Given the description of an element on the screen output the (x, y) to click on. 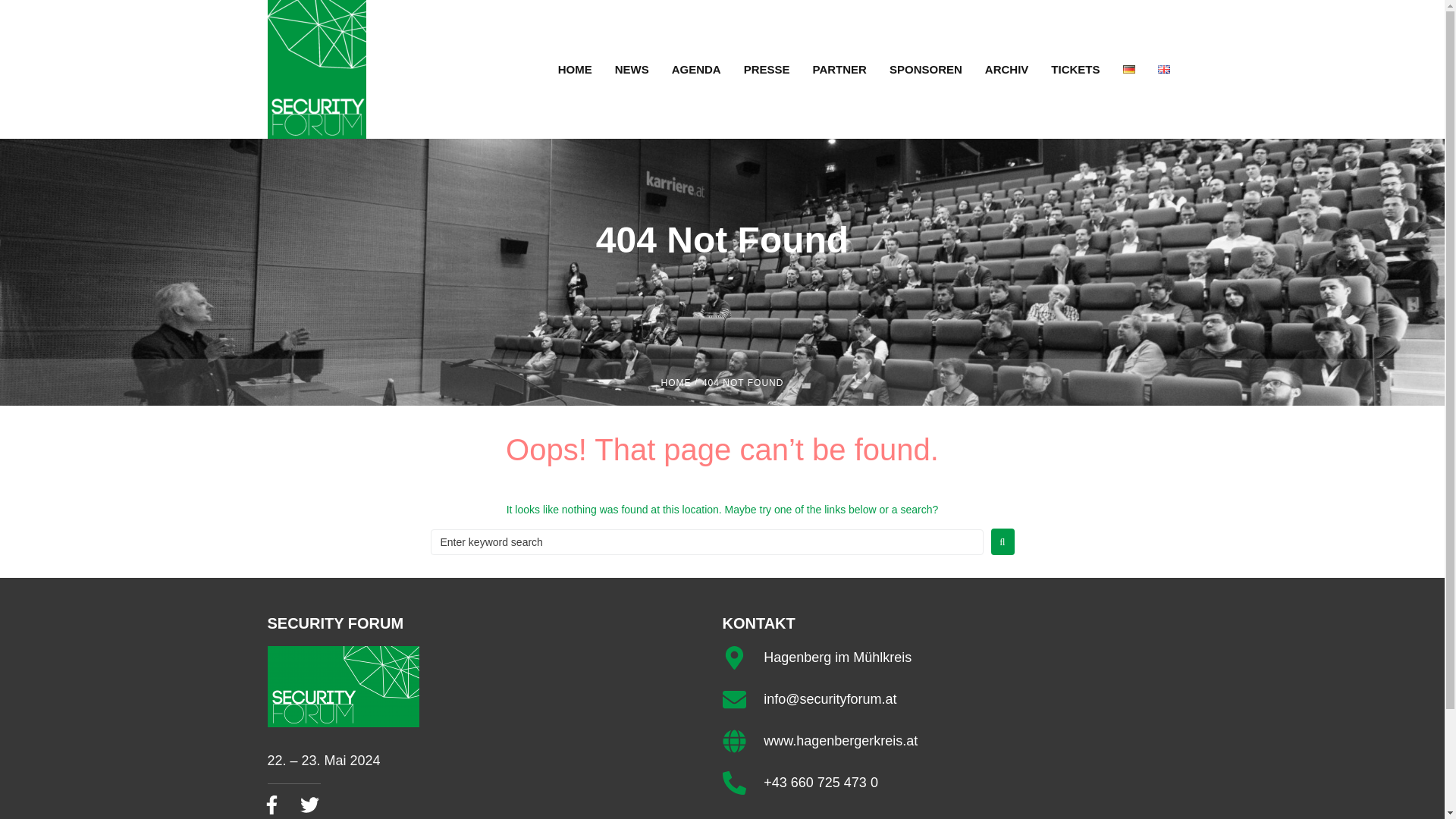
AGENDA (695, 69)
NEWS (631, 69)
PRESSE (767, 69)
HOME (574, 69)
SPONSOREN (925, 69)
HOME (676, 382)
ARCHIV (1007, 69)
Home (676, 382)
PARTNER (839, 69)
TICKETS (1075, 69)
